Given the description of an element on the screen output the (x, y) to click on. 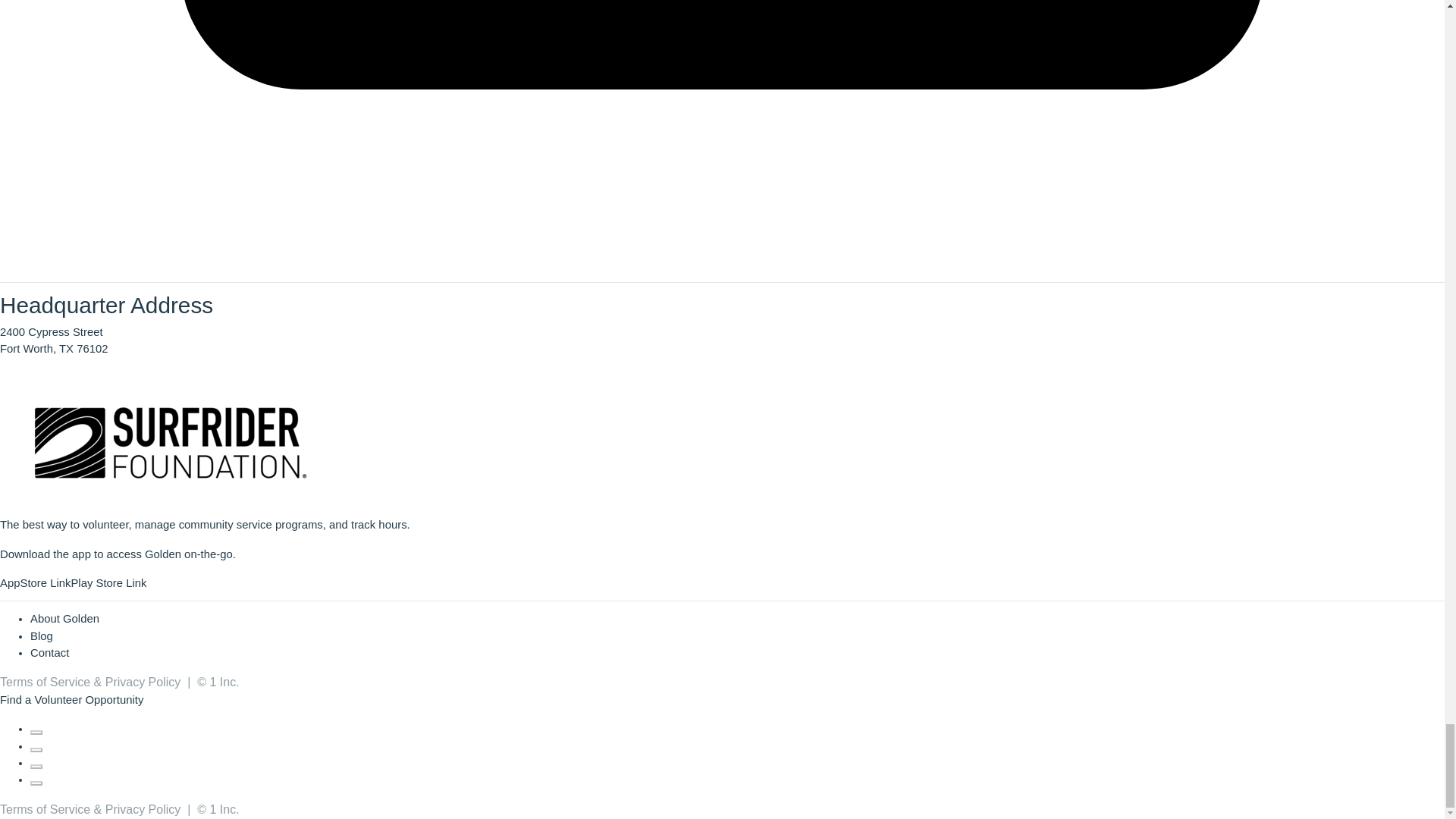
Terms of Service (45, 681)
Play Store Link (108, 582)
Visit Us On YouTube (36, 779)
Blog (41, 635)
Terms of Service (45, 809)
About Golden (64, 618)
Visit Us On Twitter (36, 746)
Visit Us On Facebook (36, 728)
Contact (49, 653)
Volunteer Opportunity (87, 699)
